Given the description of an element on the screen output the (x, y) to click on. 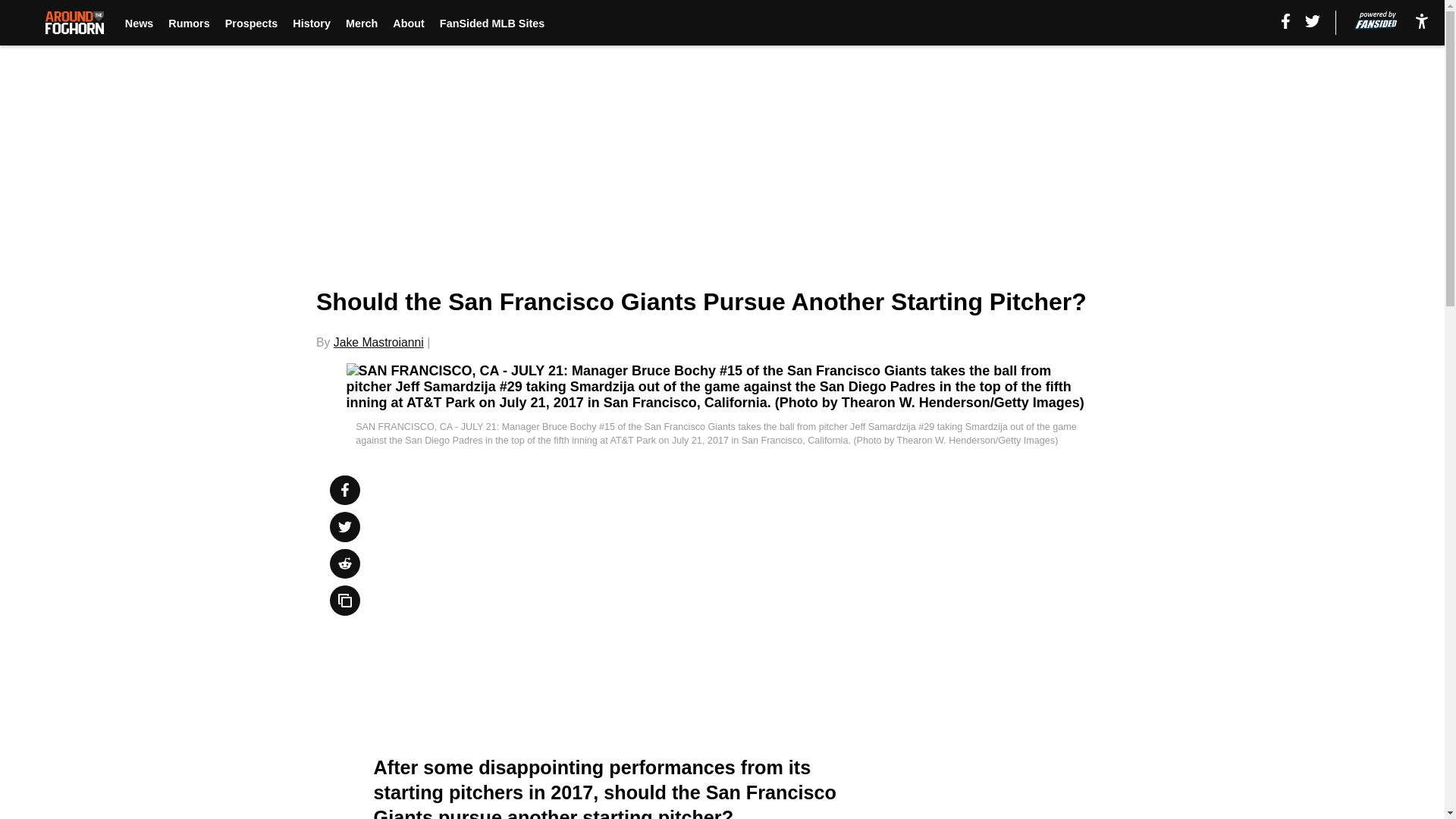
Prospects (251, 23)
Merch (361, 23)
About (409, 23)
Rumors (188, 23)
History (311, 23)
FanSided MLB Sites (491, 23)
News (139, 23)
Jake Mastroianni (378, 341)
